Given the description of an element on the screen output the (x, y) to click on. 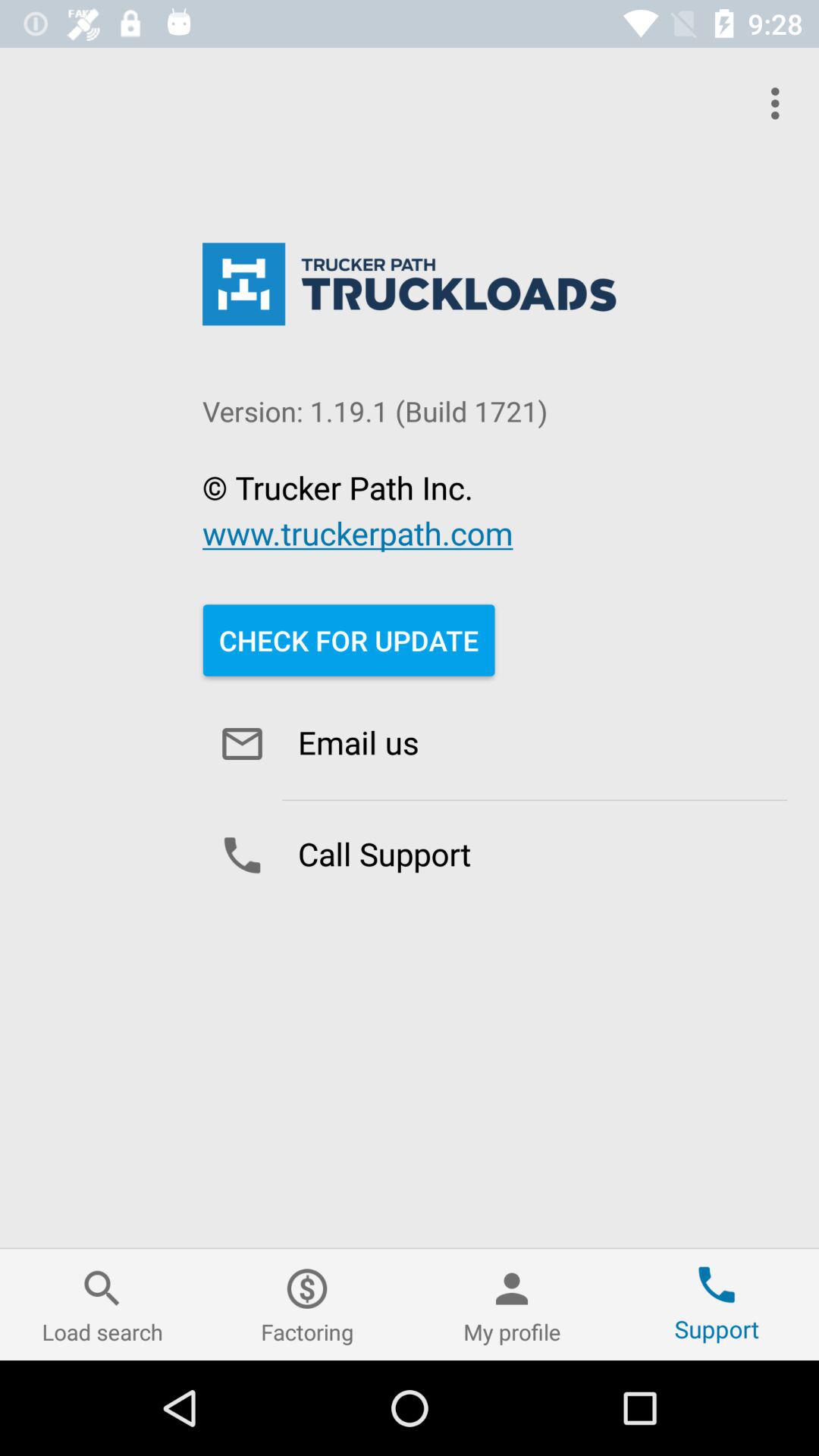
scroll until call support icon (494, 855)
